Given the description of an element on the screen output the (x, y) to click on. 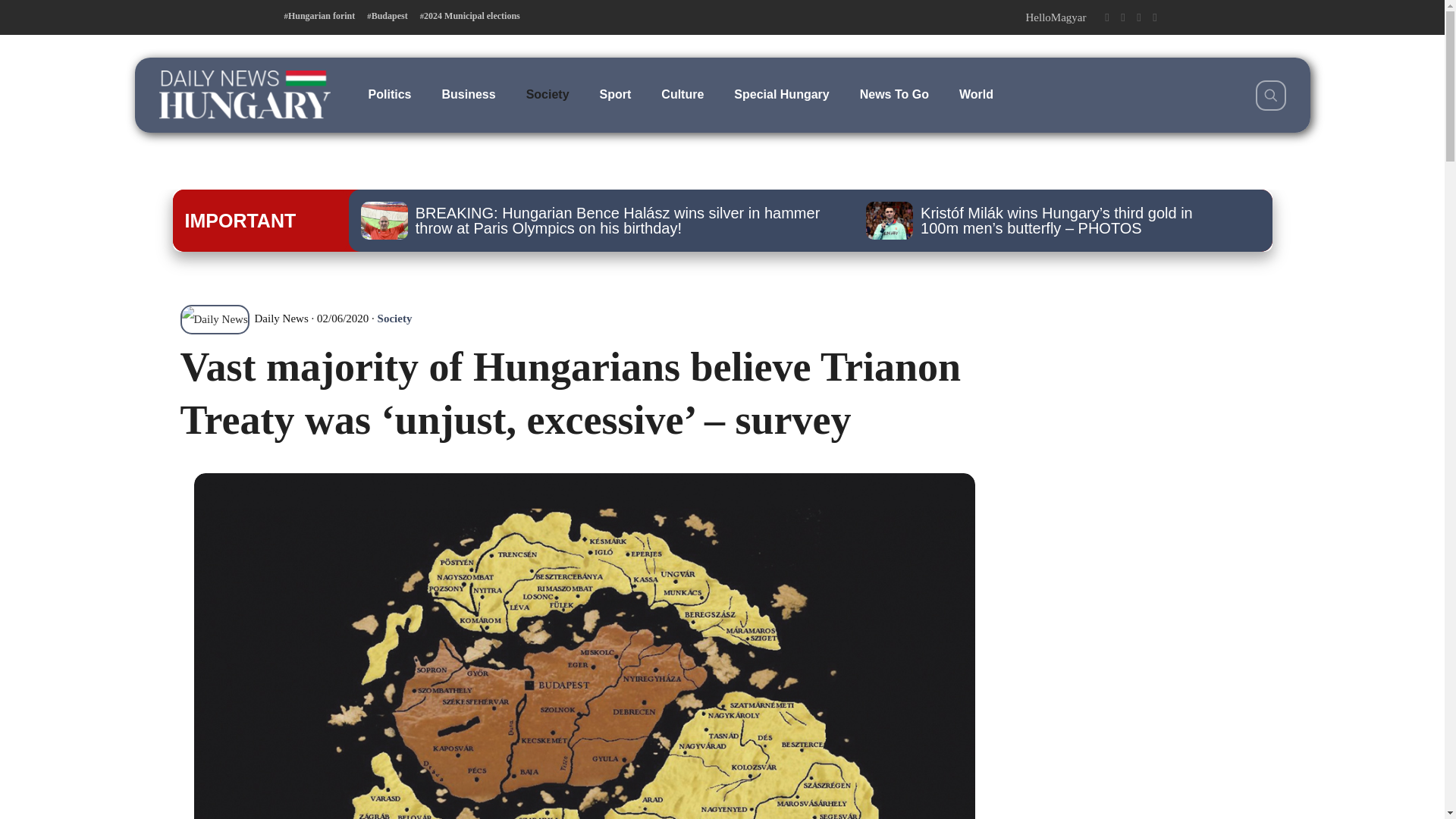
Budapest (386, 15)
Politics (389, 94)
Society (548, 94)
News To Go (893, 94)
Facebook (1106, 17)
Hungarian forint (319, 15)
2024 Municipal elections (469, 15)
Society (394, 318)
Daily News (244, 318)
Business (468, 94)
Daily News Hungary (244, 94)
HelloMagyar (1055, 17)
Culture (682, 94)
RSS (1155, 17)
Instagram (1138, 17)
